Given the description of an element on the screen output the (x, y) to click on. 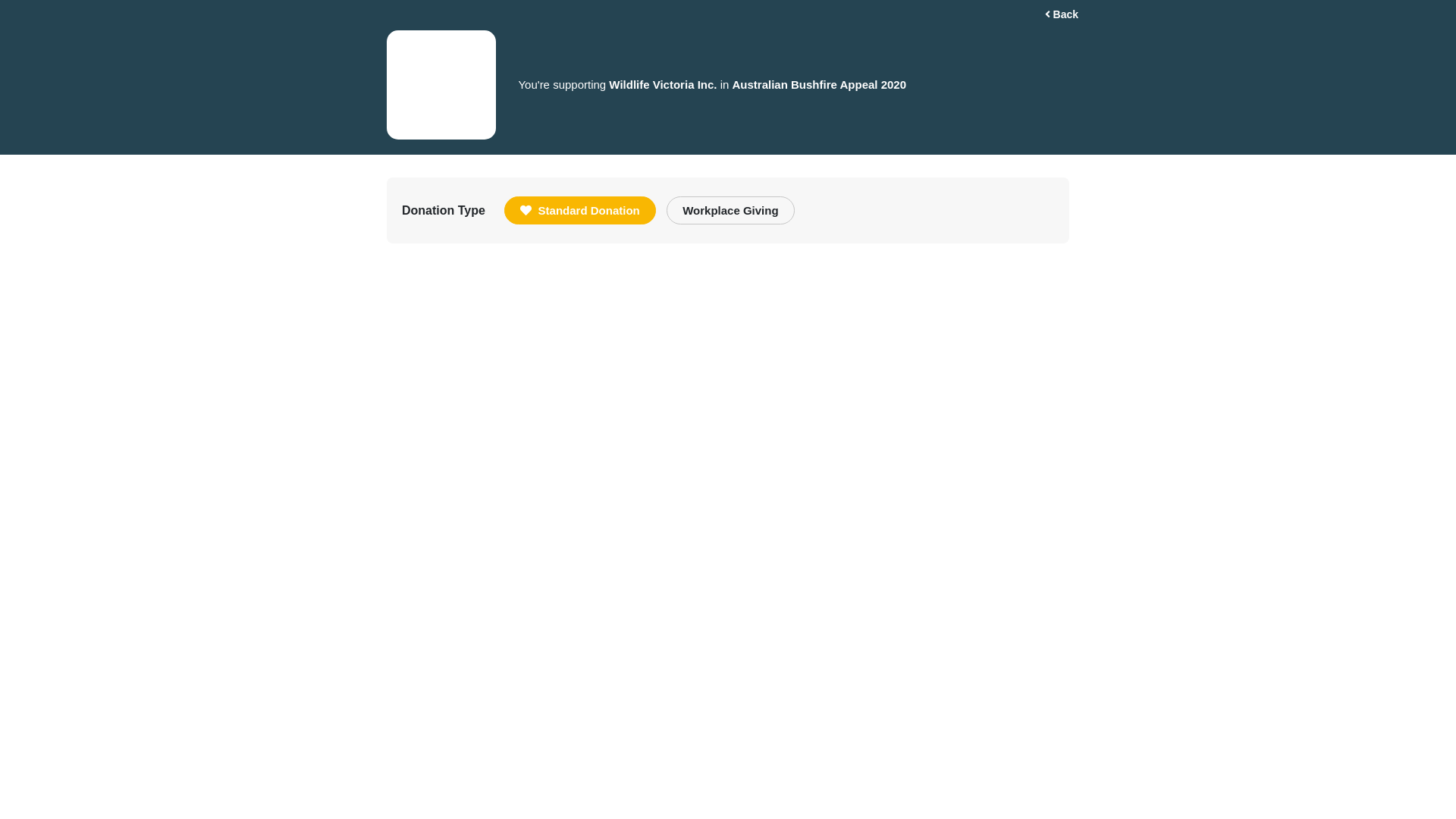
Back Element type: text (1061, 14)
